Given the description of an element on the screen output the (x, y) to click on. 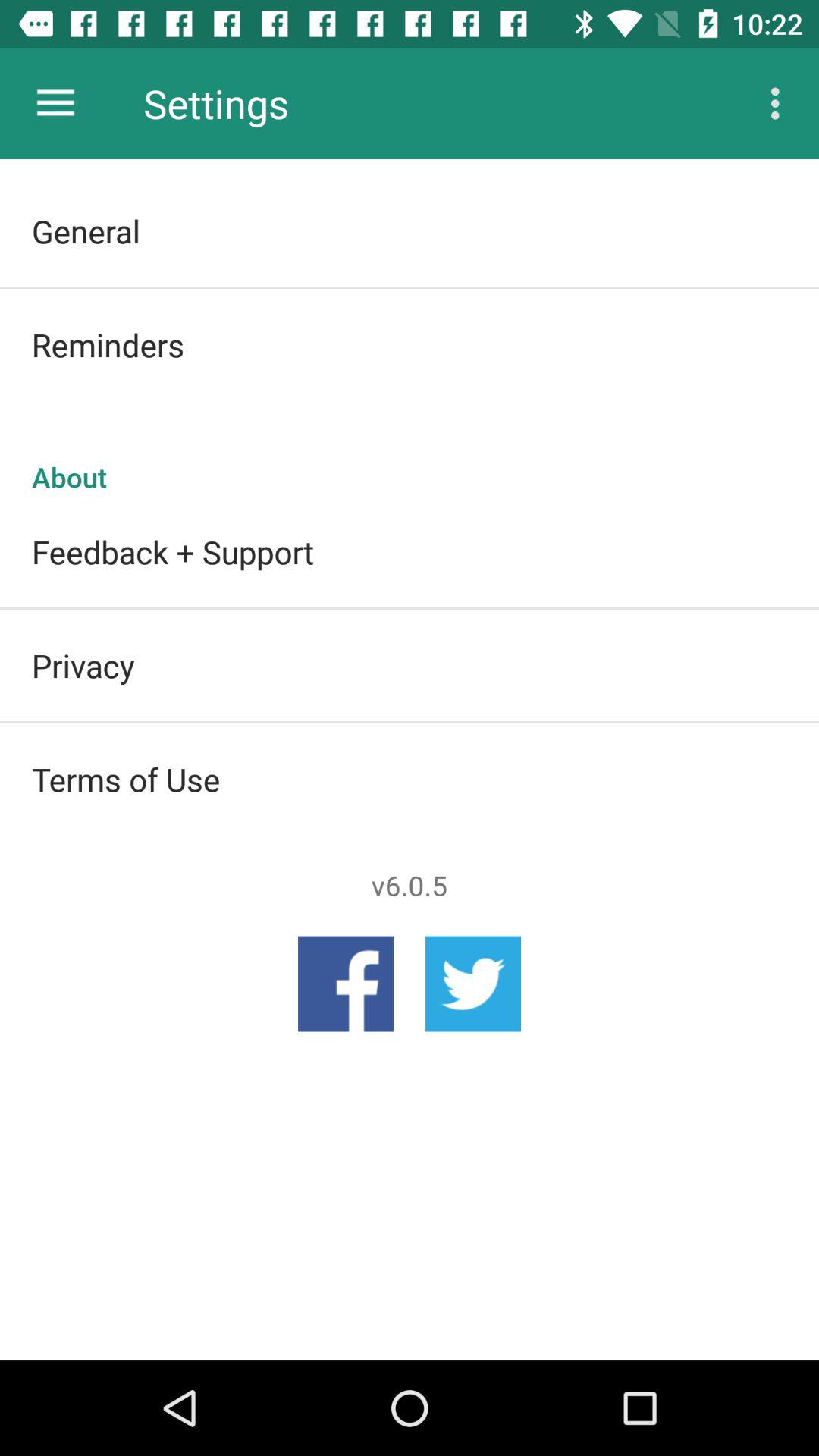
scroll until the reminders (409, 344)
